Given the description of an element on the screen output the (x, y) to click on. 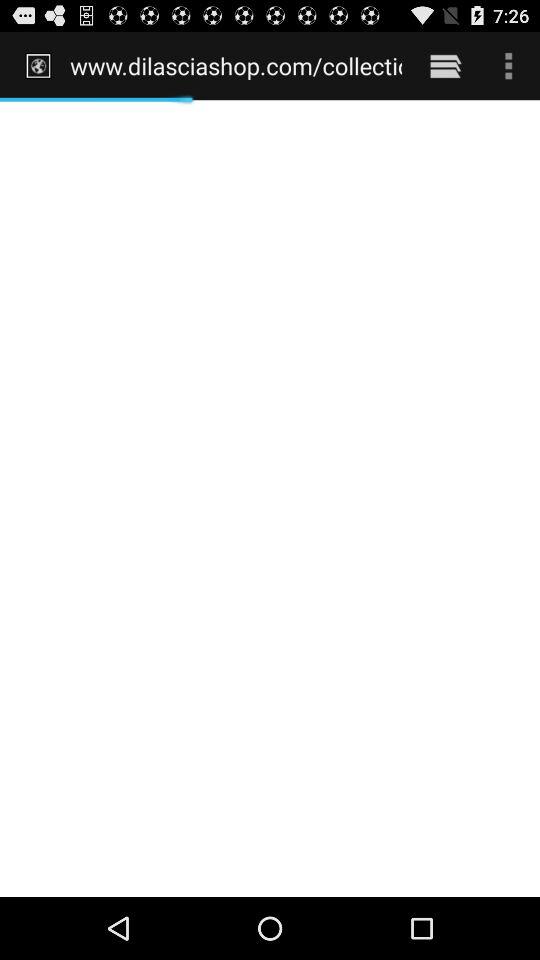
select the www dilasciashop com icon (235, 65)
